Given the description of an element on the screen output the (x, y) to click on. 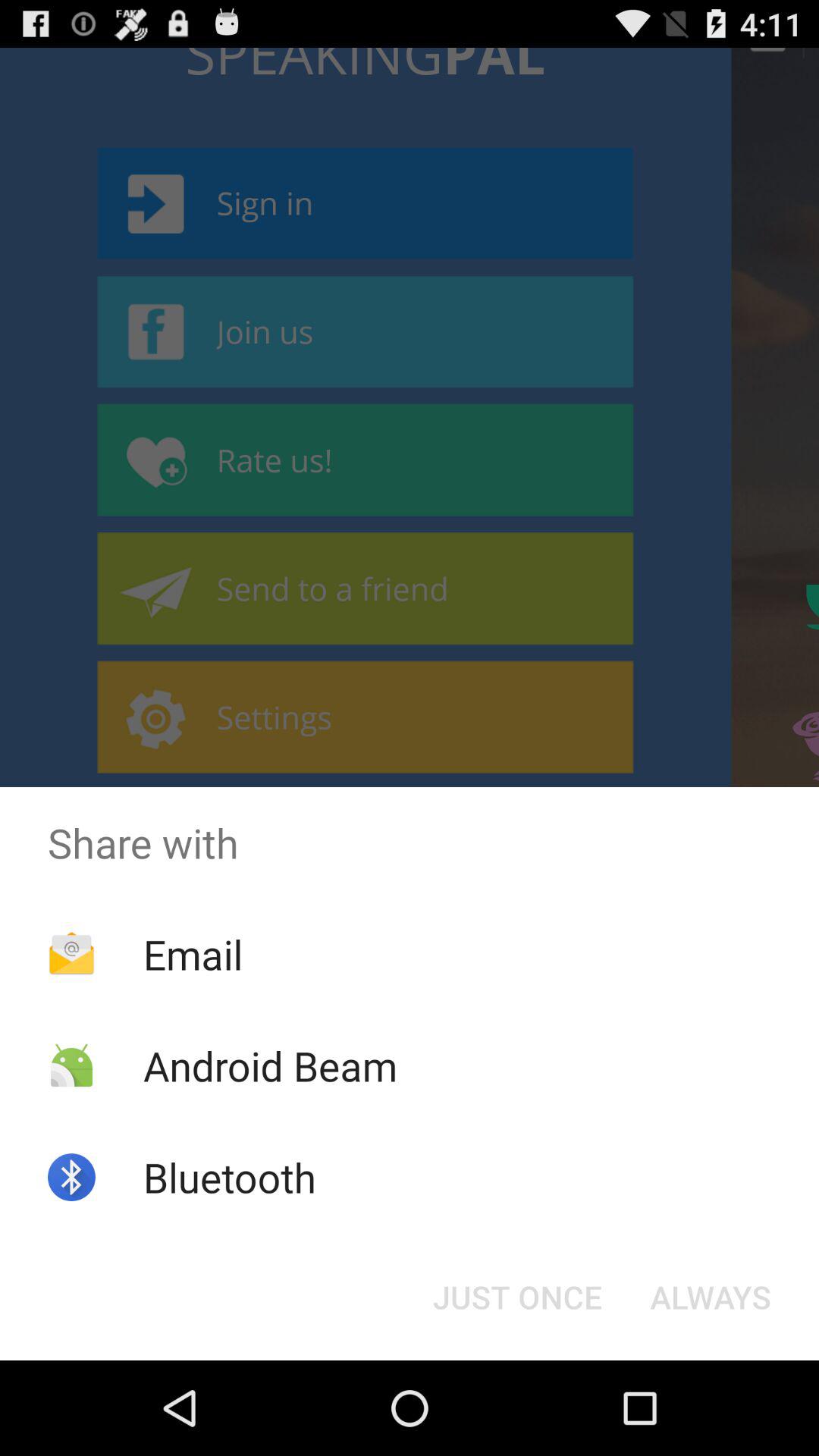
turn on the email (192, 953)
